Given the description of an element on the screen output the (x, y) to click on. 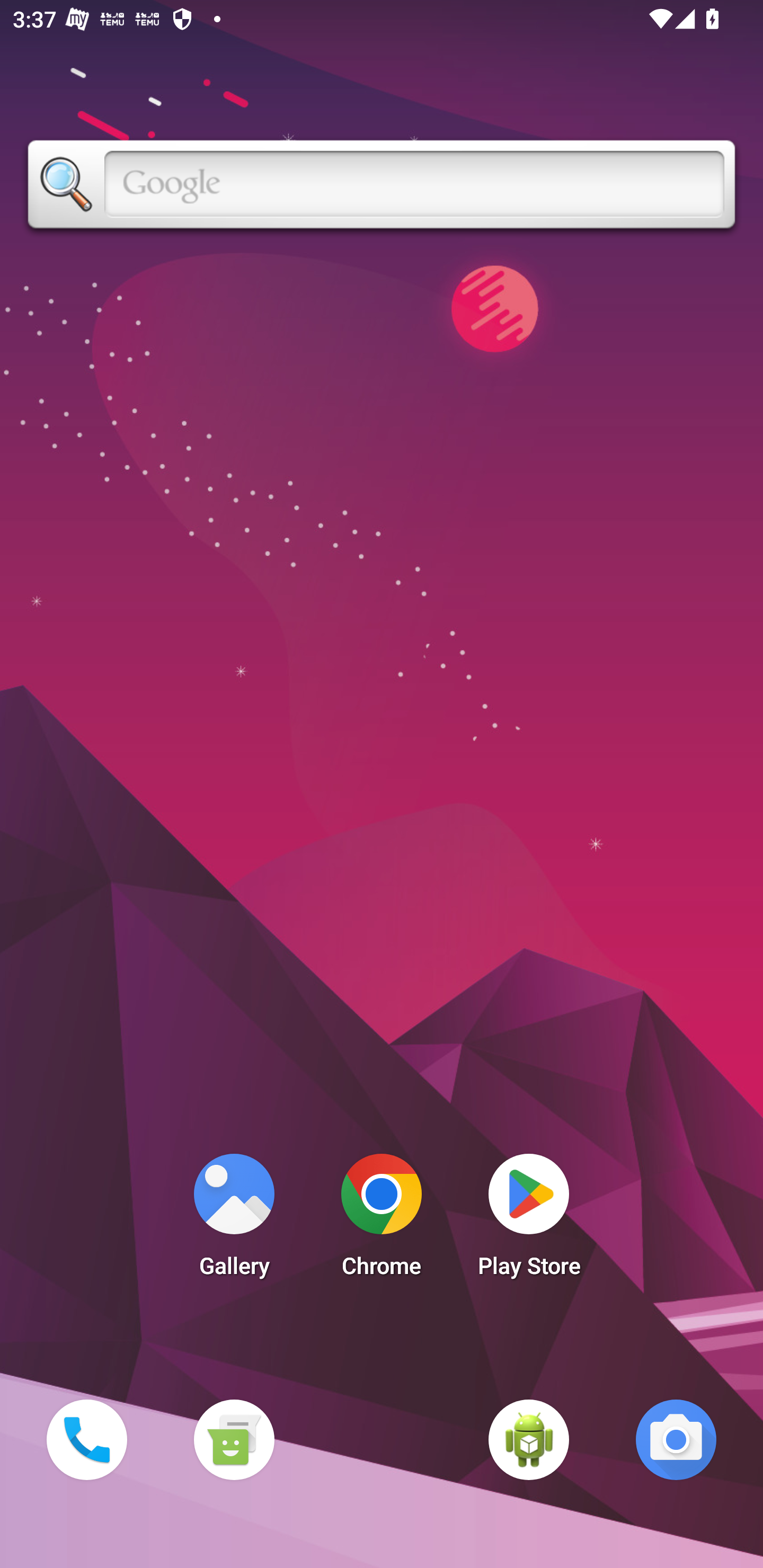
Gallery (233, 1220)
Chrome (381, 1220)
Play Store (528, 1220)
Phone (86, 1439)
Messaging (233, 1439)
WebView Browser Tester (528, 1439)
Camera (676, 1439)
